Given the description of an element on the screen output the (x, y) to click on. 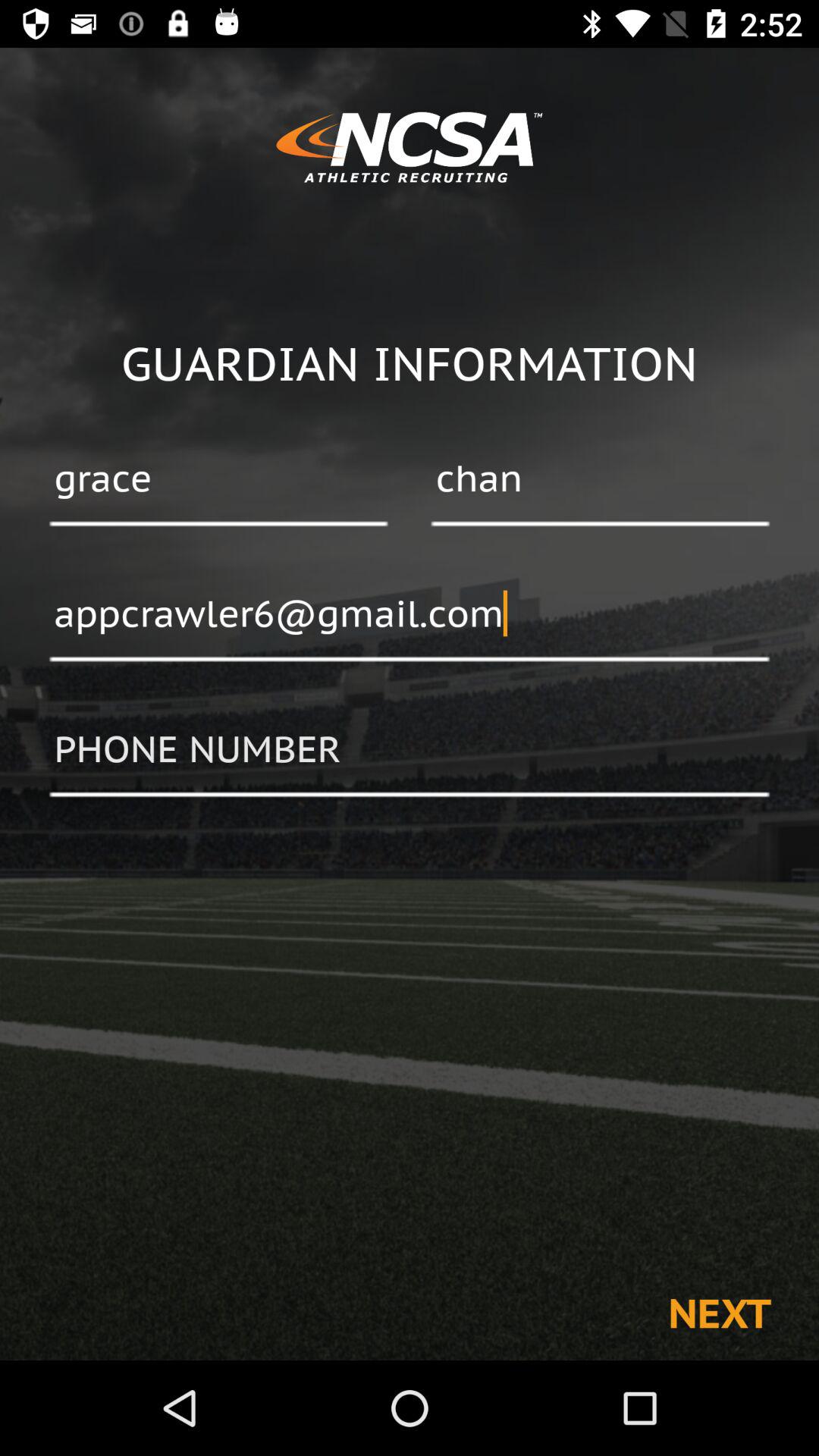
turn on next (719, 1312)
